Given the description of an element on the screen output the (x, y) to click on. 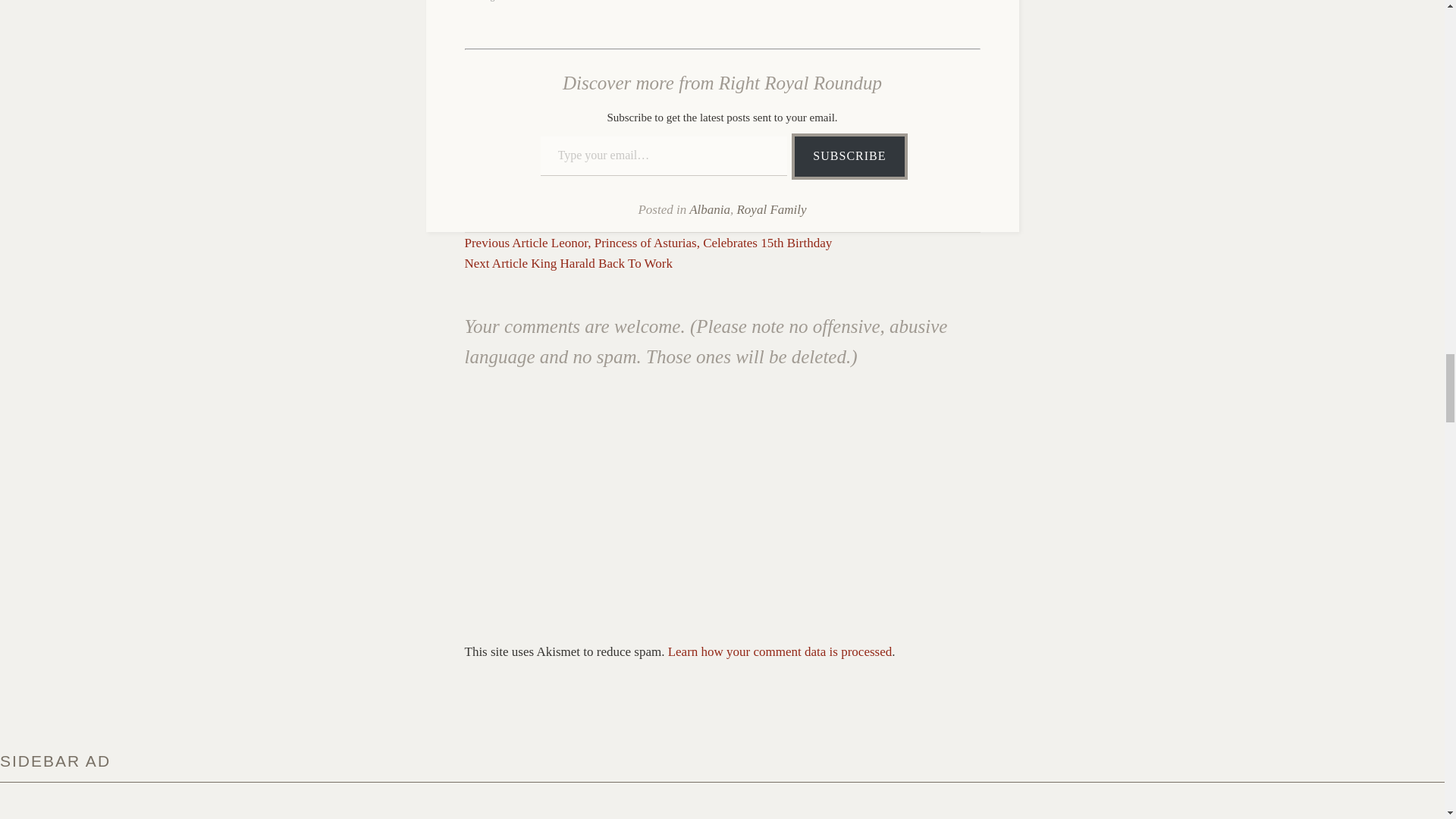
Royal Family (771, 209)
SUBSCRIBE (849, 156)
Albania (709, 209)
Comment Form (721, 510)
Please fill in this field. (663, 156)
